Given the description of an element on the screen output the (x, y) to click on. 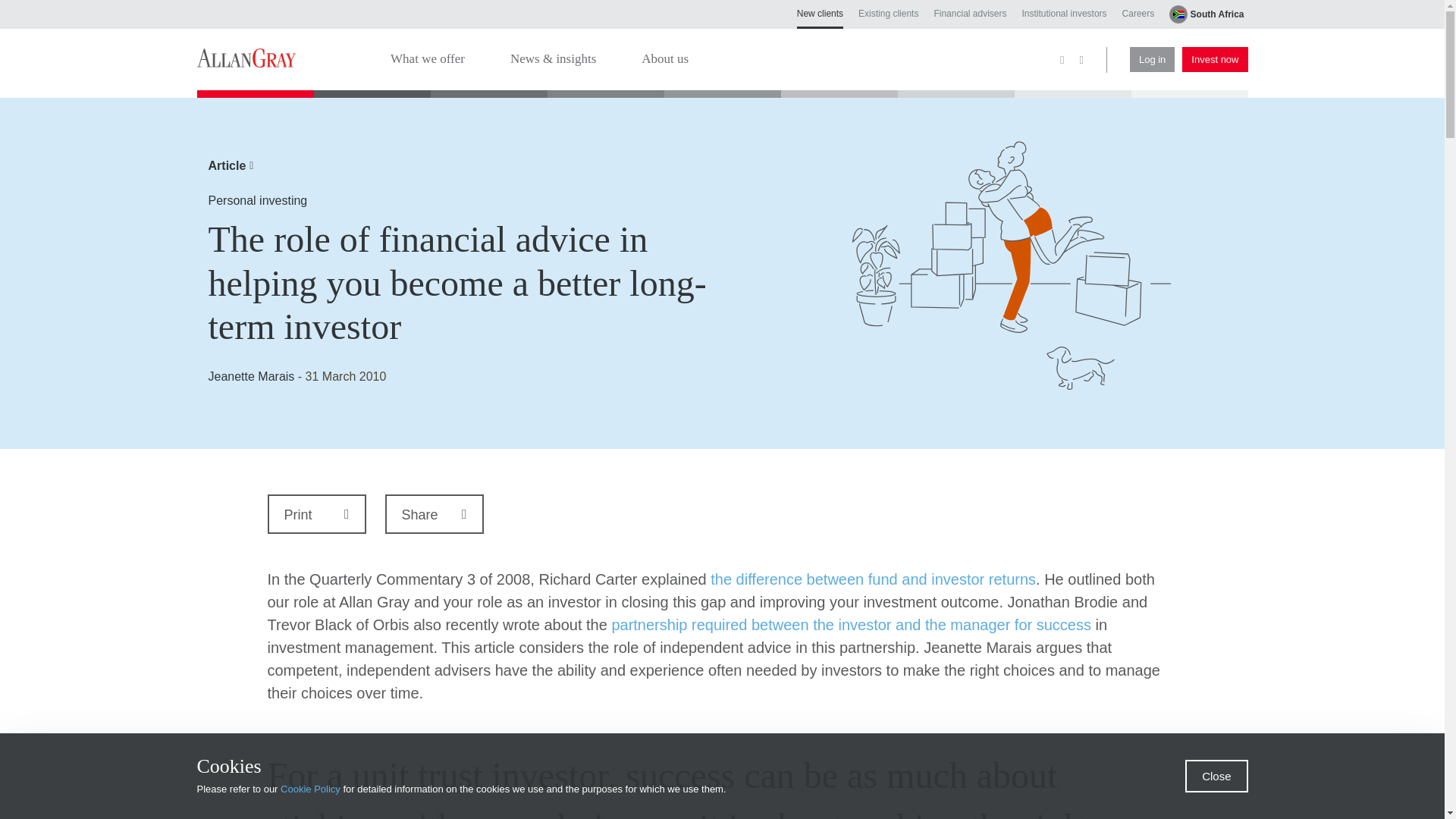
Careers (1138, 13)
Existing clients (888, 13)
Institutional investors (1064, 13)
Financial advisers (969, 13)
New clients (819, 18)
